Given the description of an element on the screen output the (x, y) to click on. 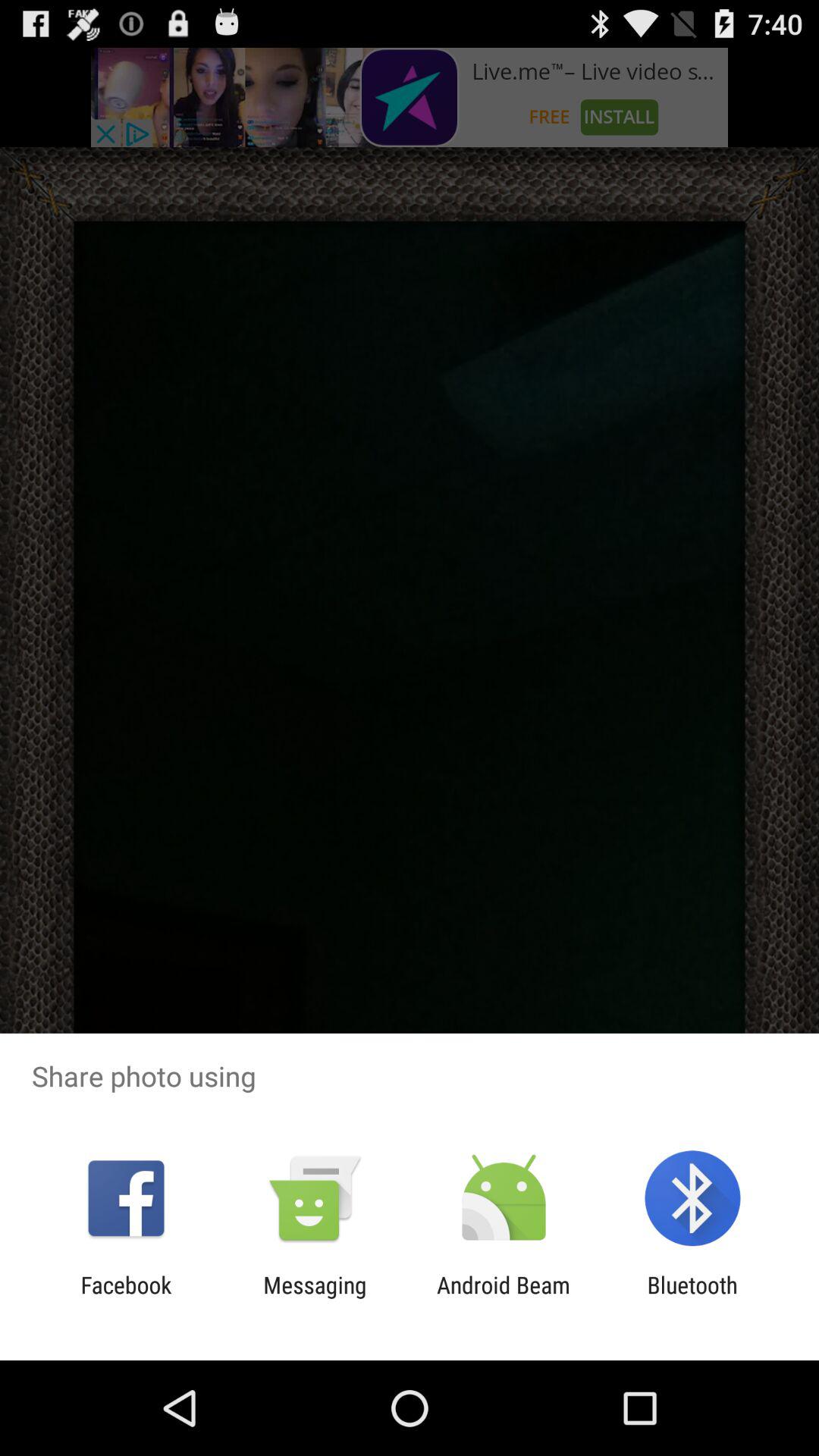
choose the messaging item (314, 1298)
